Given the description of an element on the screen output the (x, y) to click on. 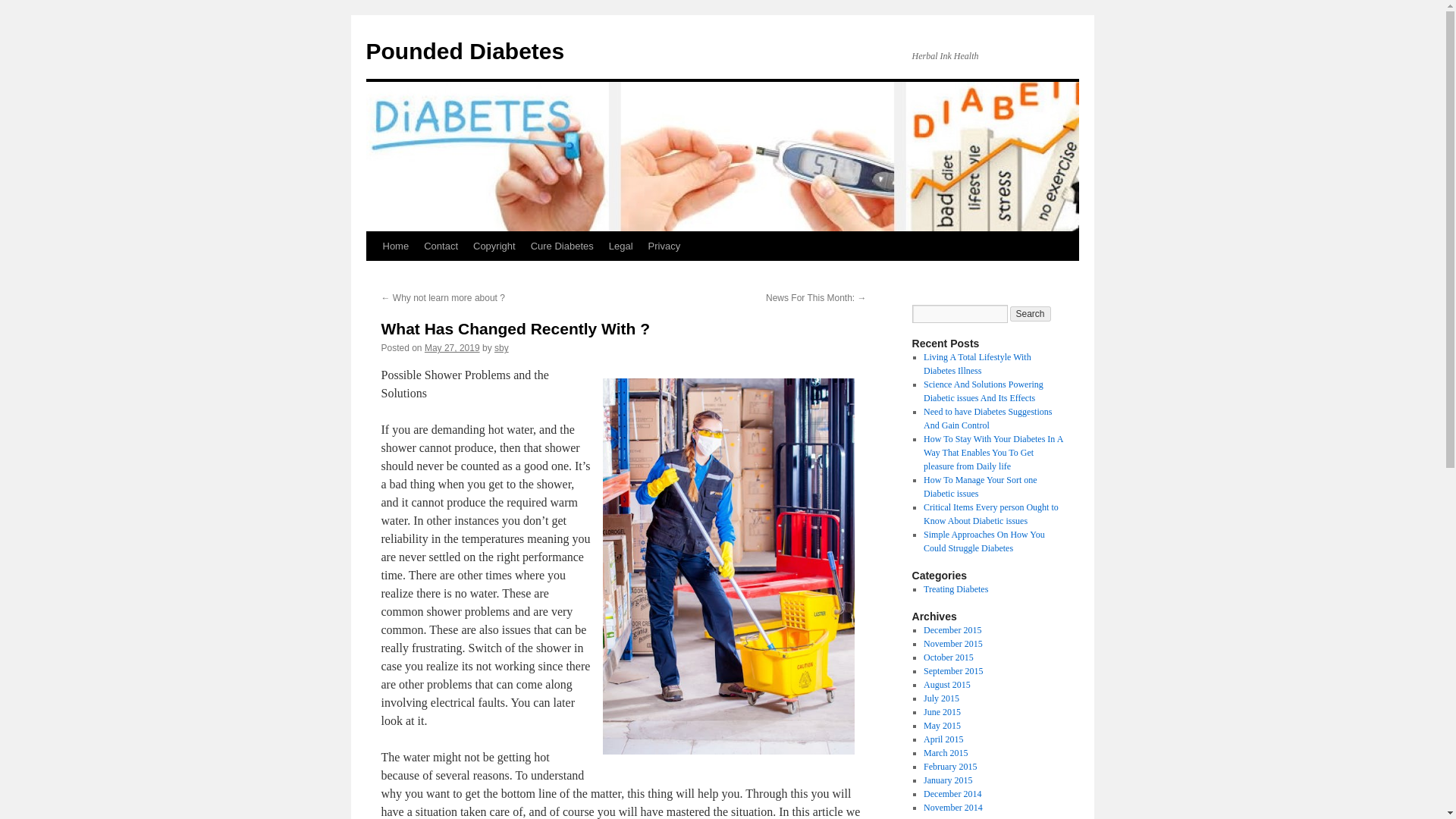
Need to have Diabetes Suggestions And Gain Control (987, 418)
Living A Total Lifestyle With Diabetes Illness (976, 363)
Contact (440, 246)
Home (395, 246)
April 2015 (942, 738)
Search (1030, 313)
November 2015 (952, 643)
Pounded Diabetes (464, 50)
November 2014 (952, 807)
January 2015 (947, 779)
sby (501, 347)
Copyright (493, 246)
February 2015 (949, 766)
